Given the description of an element on the screen output the (x, y) to click on. 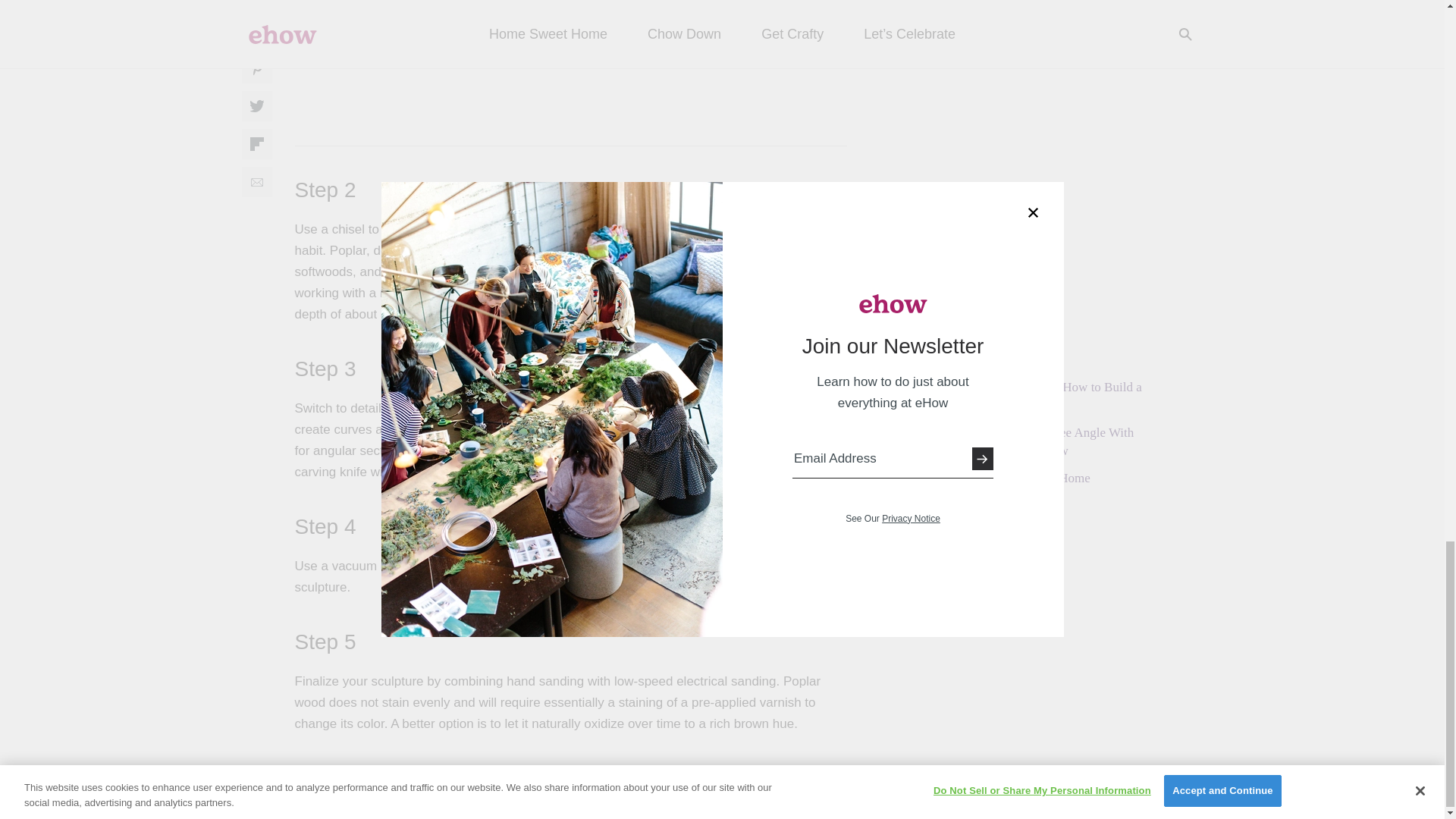
How to Gut a Mobile Home (1016, 477)
Step-by-Step Plans on How to Build a Deck (1042, 396)
3rd party ad content (1035, 28)
How to Cut a 45-Degree Angle With a Compound Miter Saw (1039, 441)
